Given the description of an element on the screen output the (x, y) to click on. 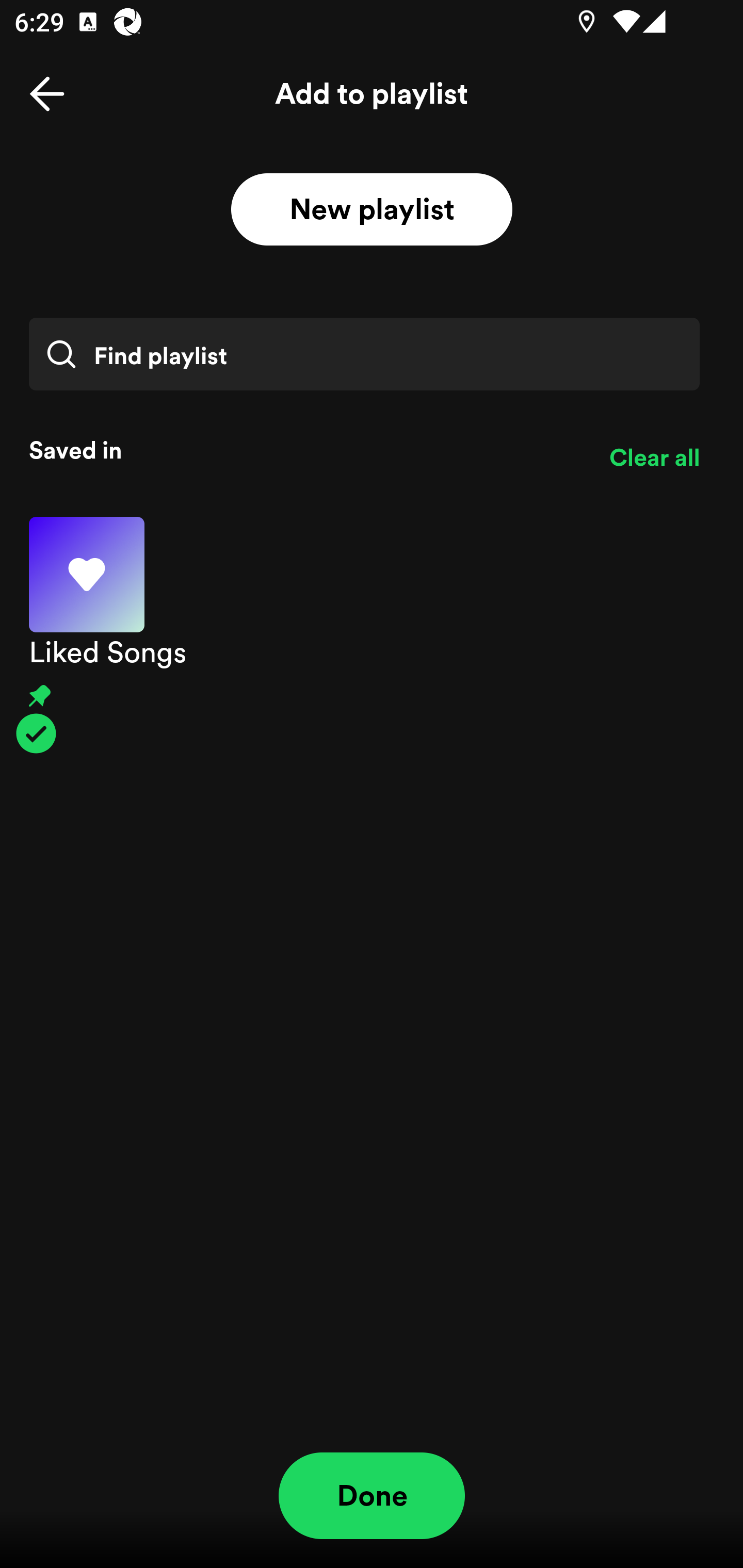
Back (46, 93)
New playlist (371, 210)
Find playlist (363, 354)
Saved in (304, 449)
Clear all (654, 457)
Liked Songs Pinned (371, 635)
Done (371, 1495)
